Given the description of an element on the screen output the (x, y) to click on. 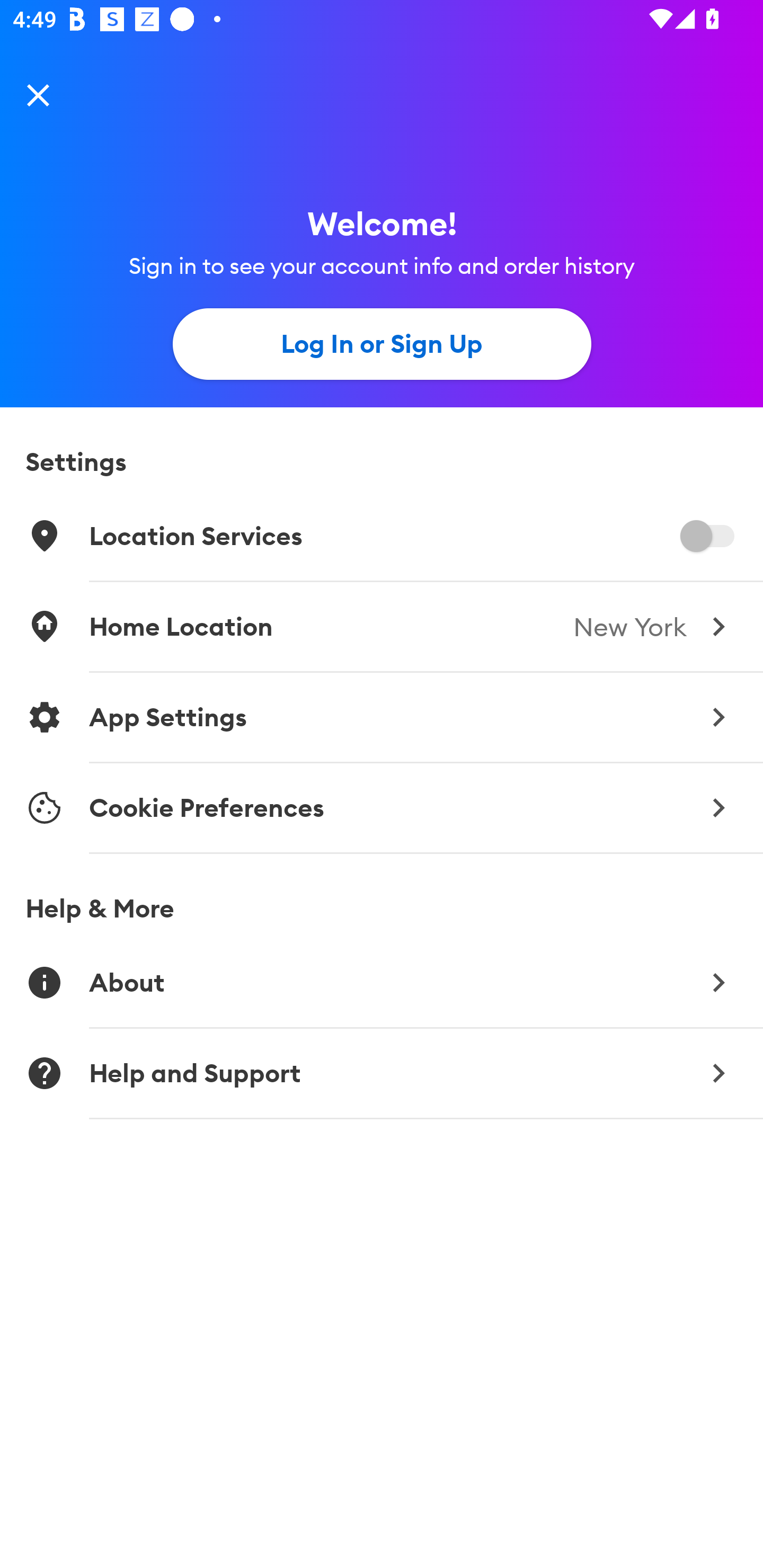
Close (38, 94)
Log In or Sign Up (381, 343)
Location Services (381, 536)
Home Location New York (381, 626)
App Settings (381, 717)
Cookie Preferences (381, 807)
About (381, 982)
Help & Support Link (381, 1072)
